Given the description of an element on the screen output the (x, y) to click on. 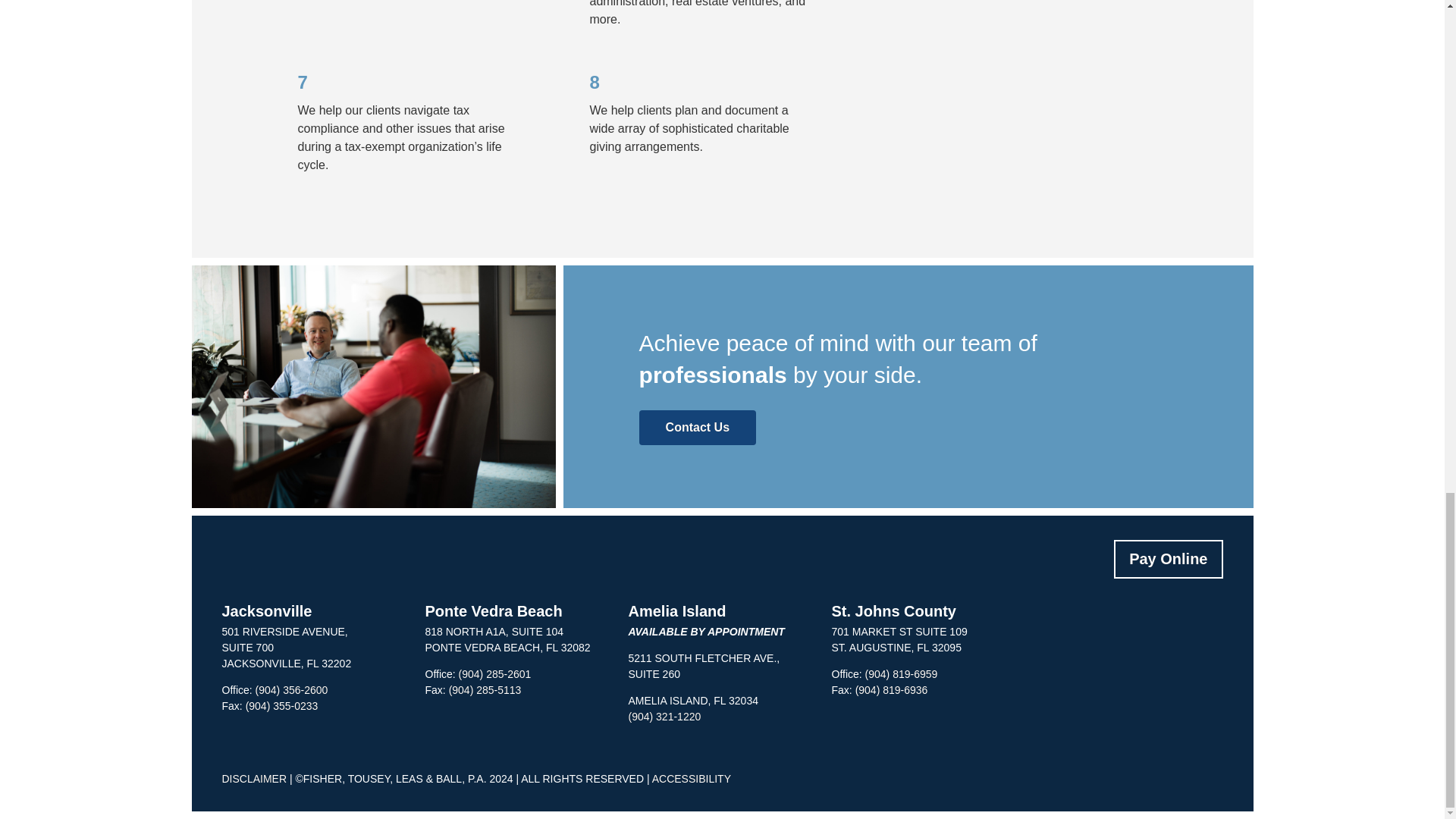
Contact Us (697, 427)
Pay Online (1168, 558)
